Given the description of an element on the screen output the (x, y) to click on. 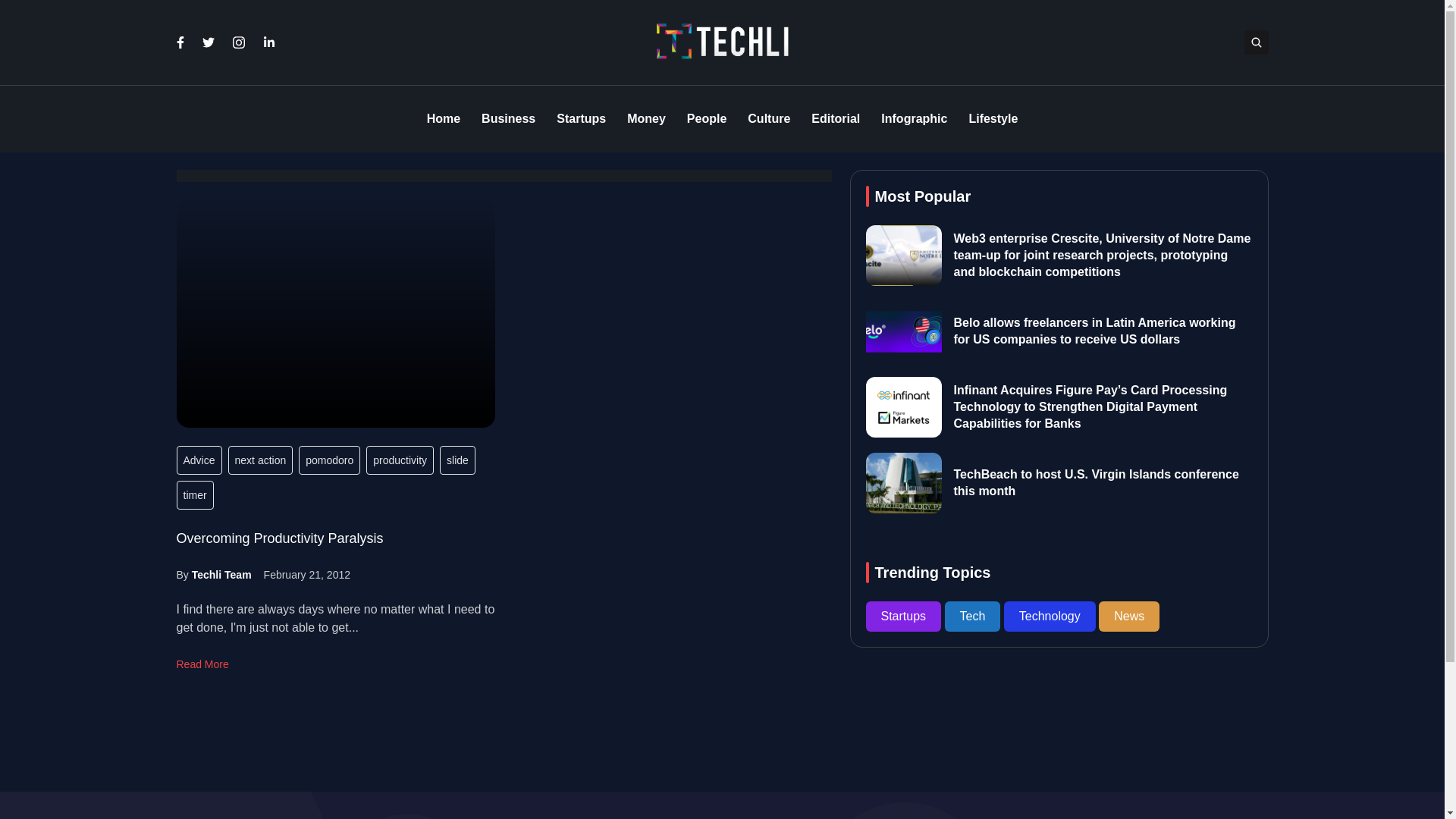
slide (457, 460)
TechBeach to host U.S. Virgin Islands conference this month (1096, 482)
timer (194, 494)
Read More (202, 663)
Techli Team (221, 574)
Advice (198, 460)
productivity (399, 460)
Lifestyle (992, 119)
Money (646, 119)
pomodoro (328, 460)
Overcoming Productivity Paralysis (335, 313)
Editorial (835, 119)
